Given the description of an element on the screen output the (x, y) to click on. 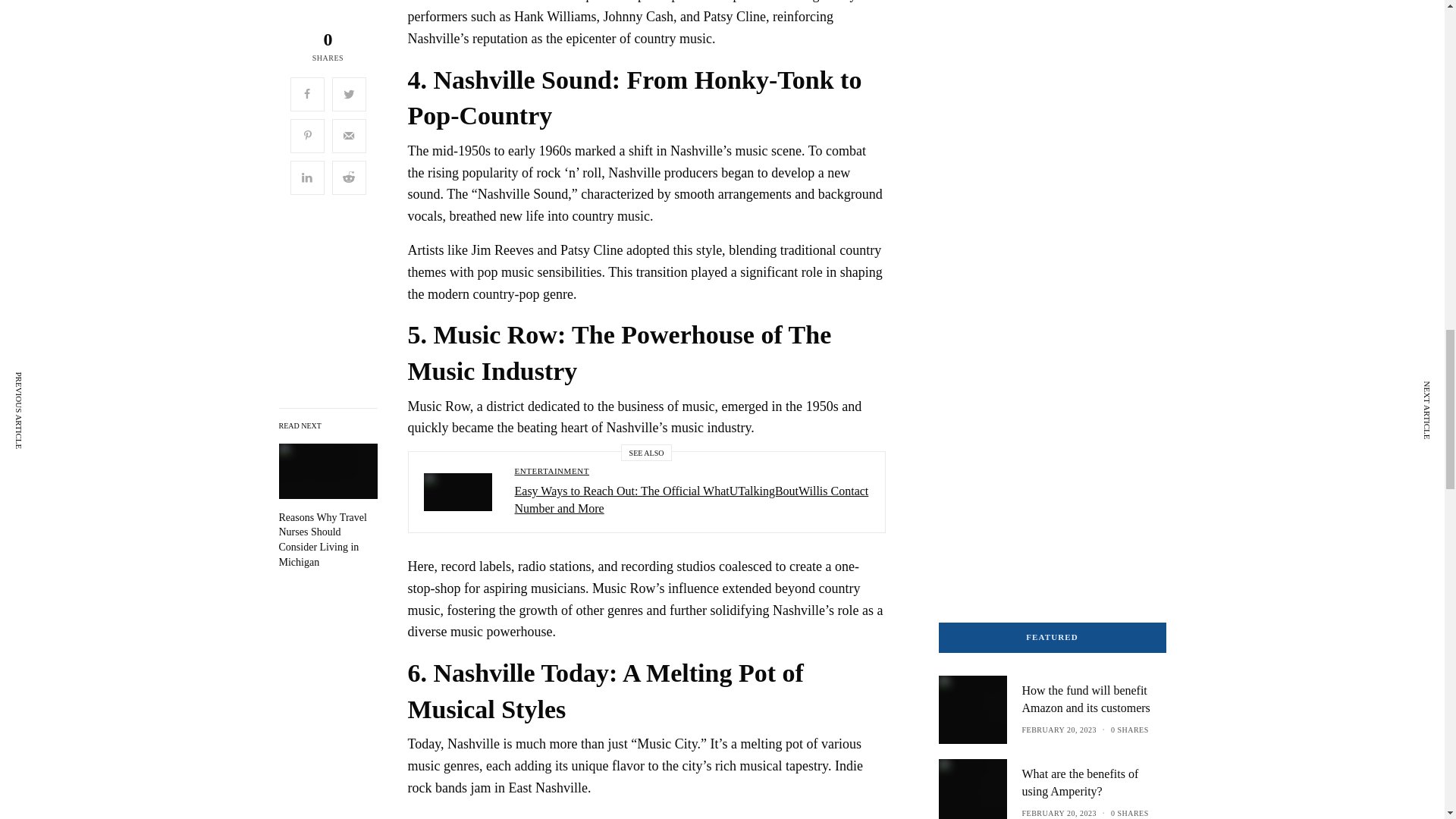
birthday bonus casino uk (1033, 325)
What are the benefits of using Amperity? (1094, 782)
How the fund will benefit Amazon and its customers (1094, 699)
